Given the description of an element on the screen output the (x, y) to click on. 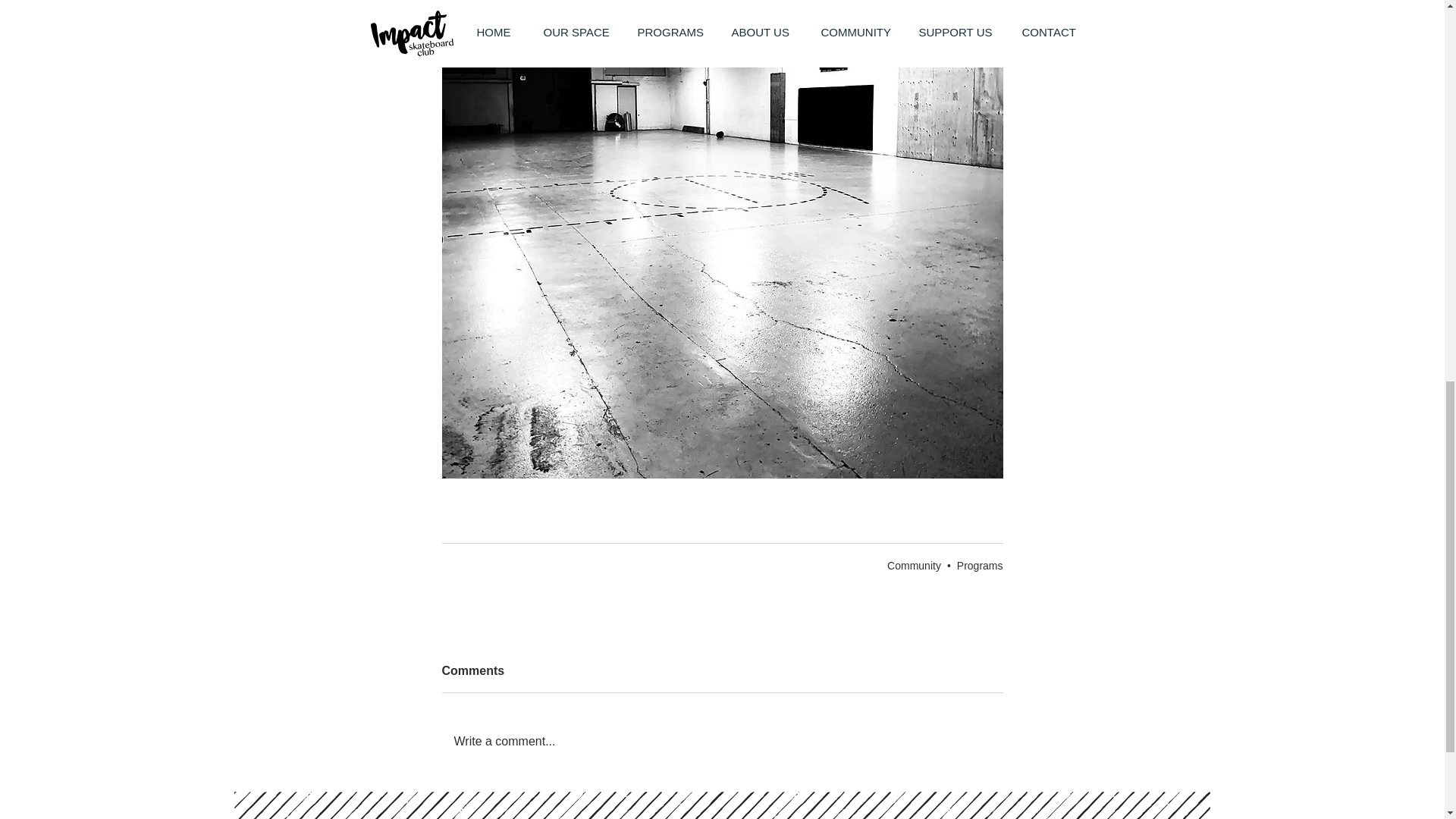
Community (913, 565)
